Given the description of an element on the screen output the (x, y) to click on. 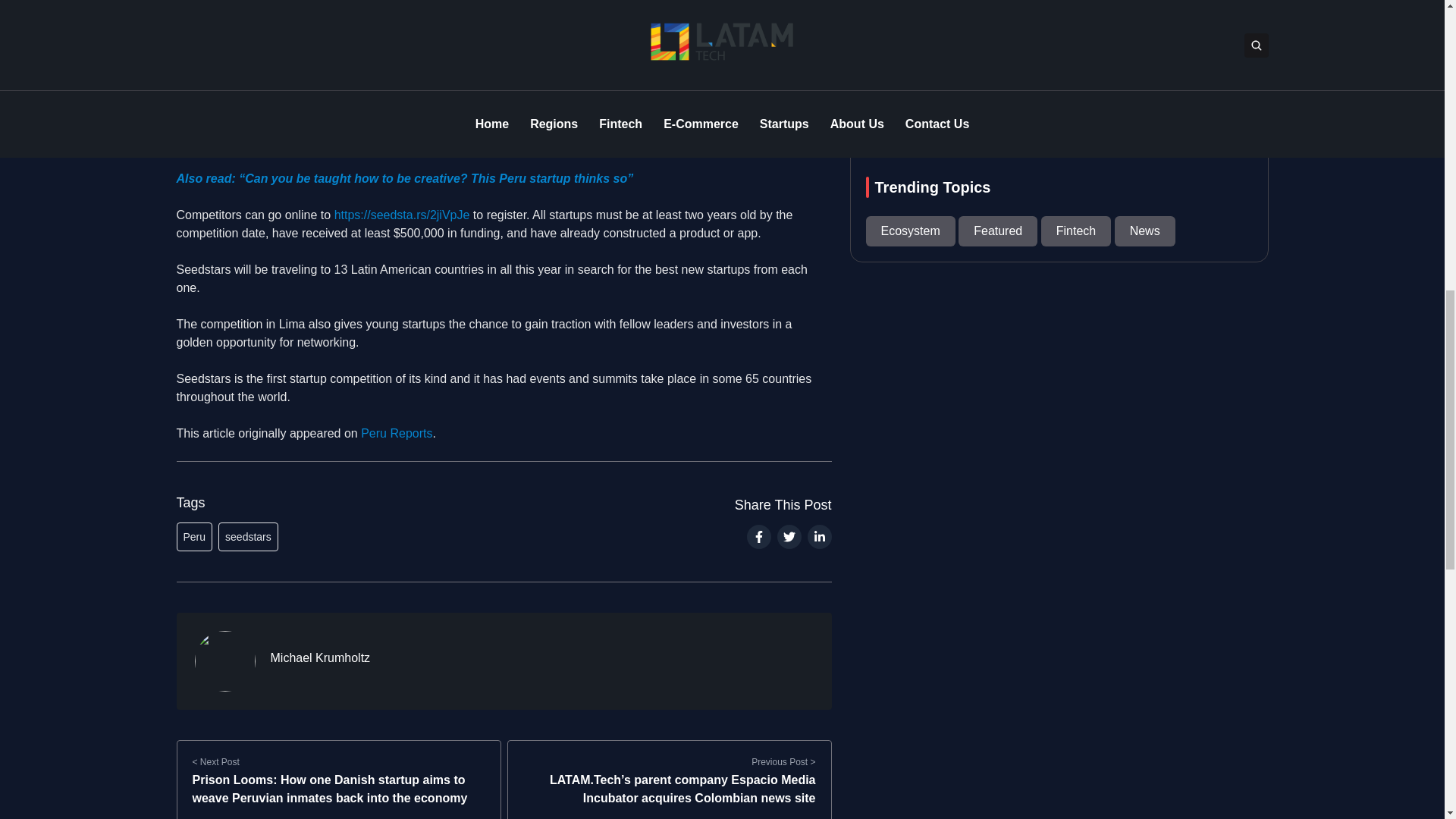
Peru (194, 536)
seedstars (248, 536)
UTEC campus (602, 1)
Peru Reports (396, 432)
Michael Krumholtz (319, 658)
